Given the description of an element on the screen output the (x, y) to click on. 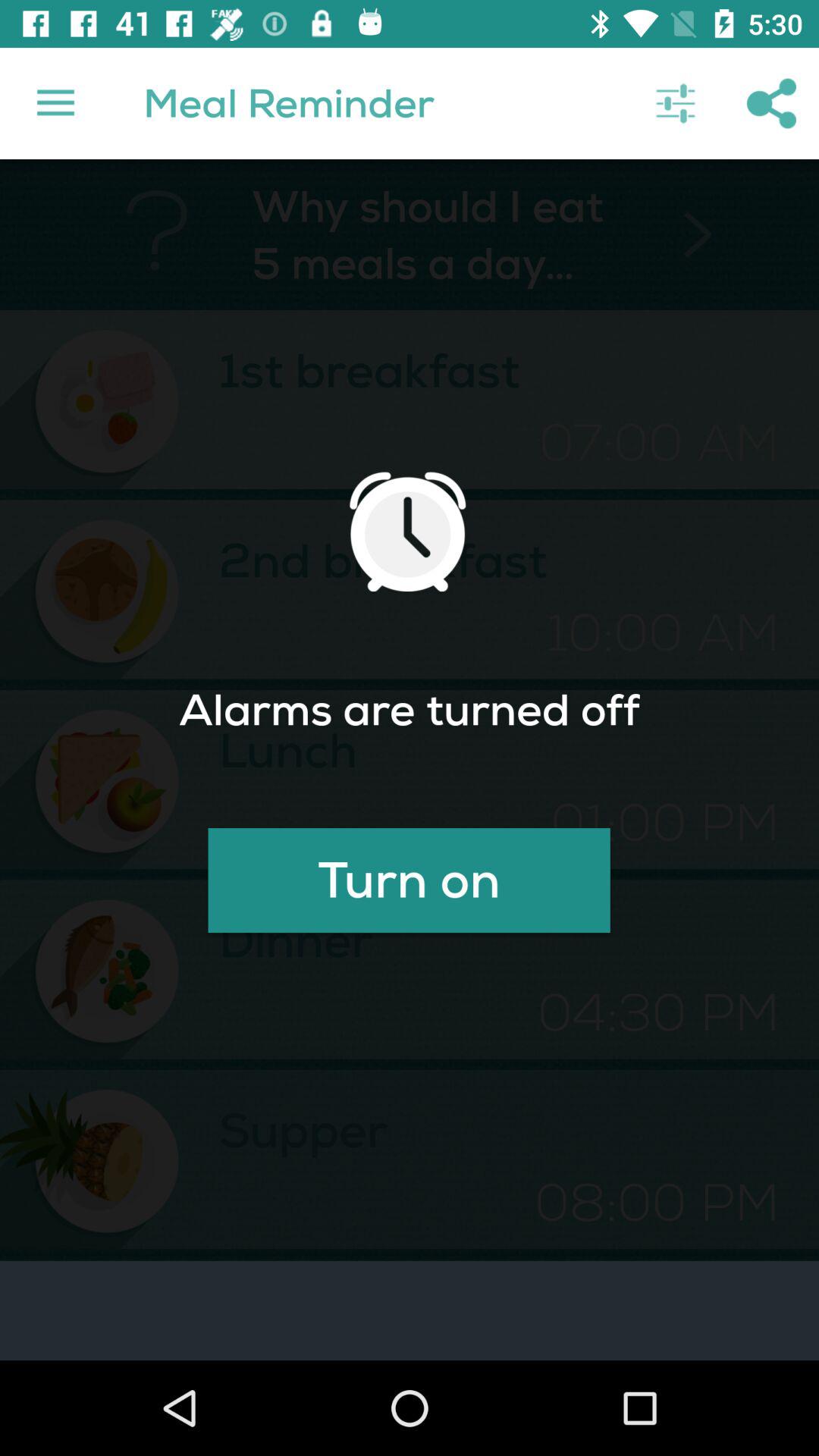
turn on the item above > item (675, 103)
